Given the description of an element on the screen output the (x, y) to click on. 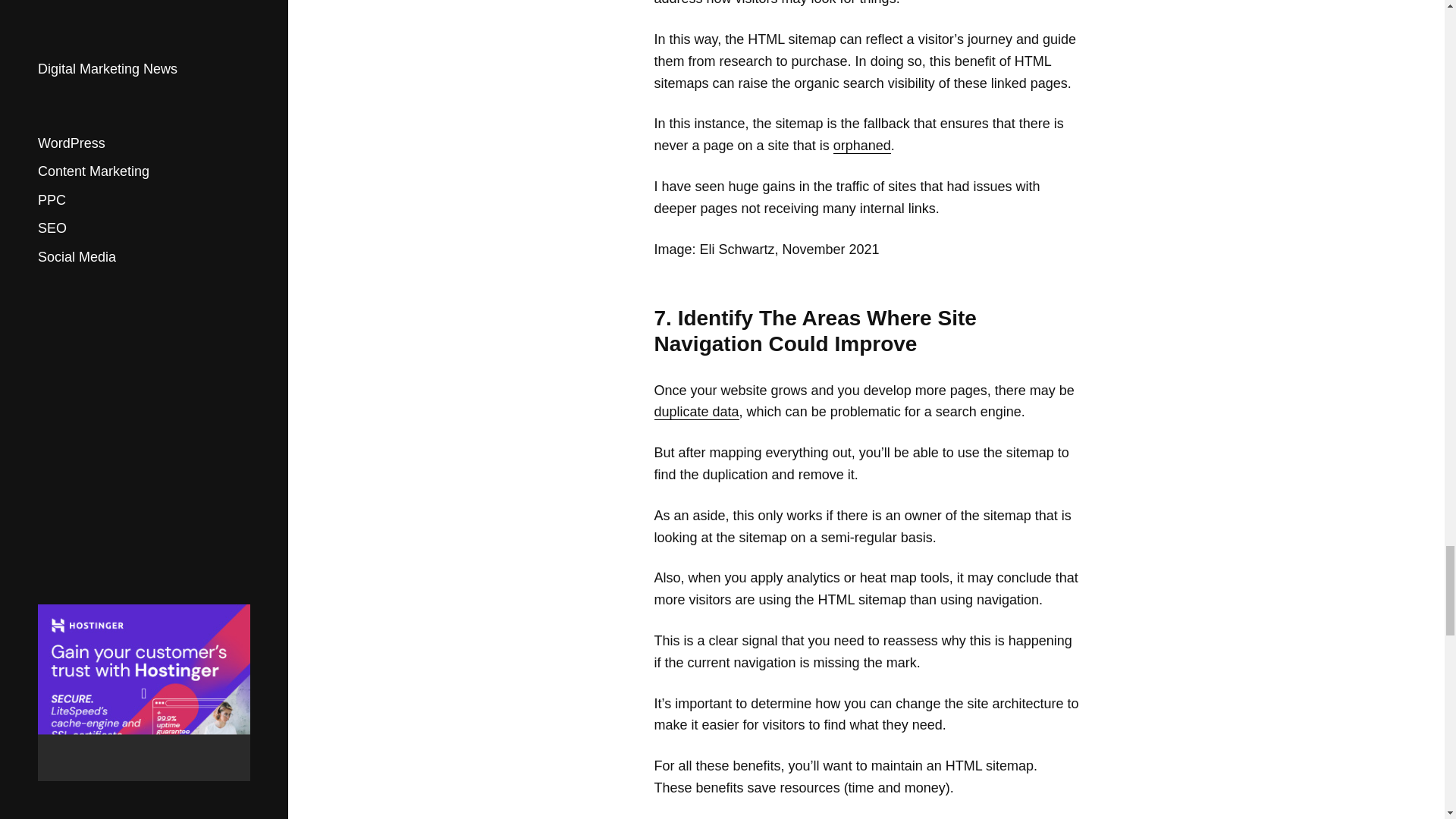
duplicate data (695, 412)
orphaned (861, 145)
